Given the description of an element on the screen output the (x, y) to click on. 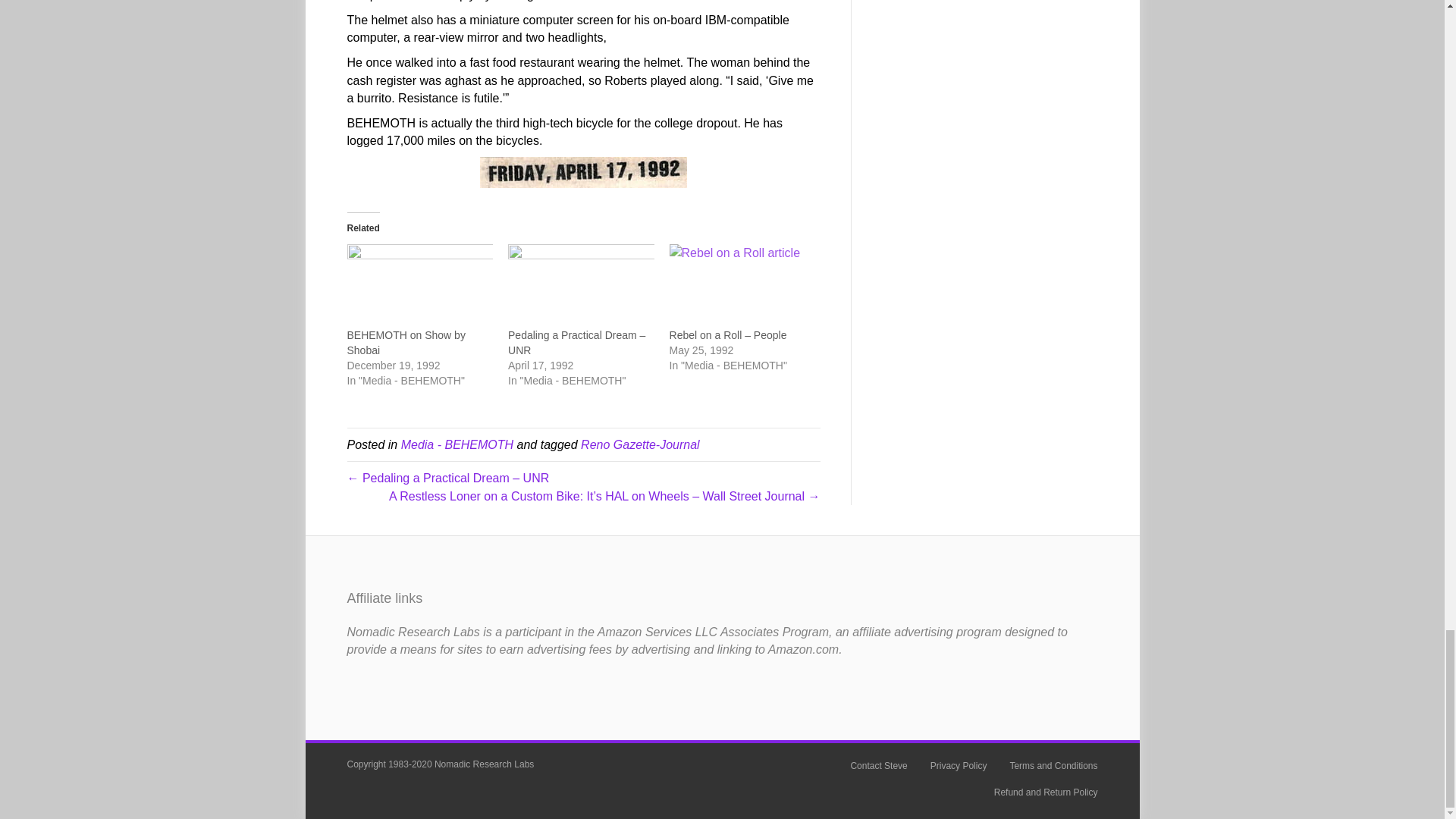
BEHEMOTH on Show by Shobai (420, 285)
BEHEMOTH on Show by Shobai (406, 342)
Reno Gazette date (583, 172)
